Given the description of an element on the screen output the (x, y) to click on. 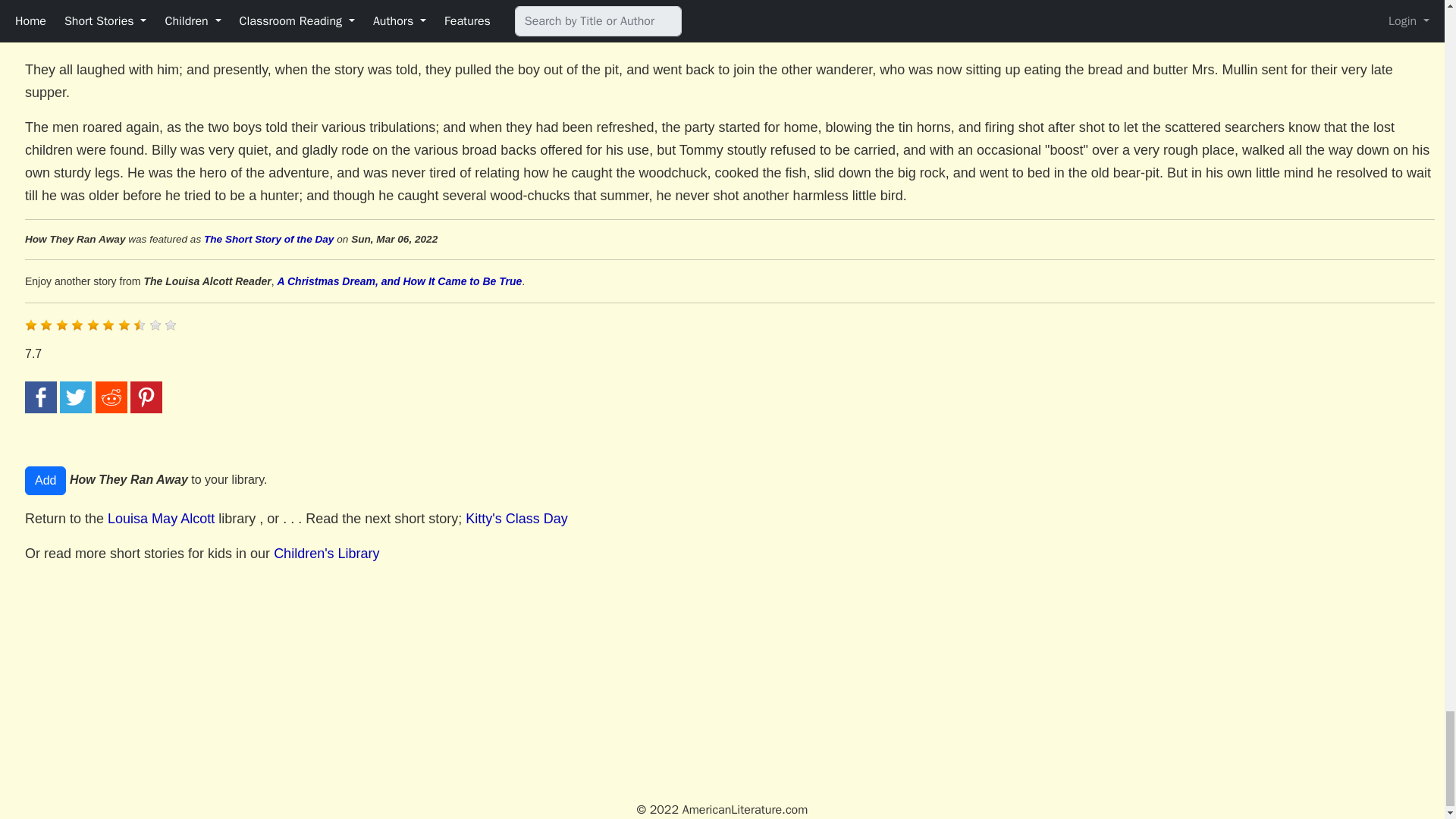
1 - Avoid  (30, 325)
10 - Absolutely Brilliant!  (170, 325)
4 - Okay  (76, 325)
8 - Very Good - Highly Recommended  (139, 325)
3 - Nothing Special  (62, 325)
9 - Loved it!  (155, 325)
2 - Don't Read  (46, 325)
6 - Pretty Good - read it  (108, 325)
7 - Very Good - recommended  (124, 325)
5 - Average - worth reading  (93, 325)
